Given the description of an element on the screen output the (x, y) to click on. 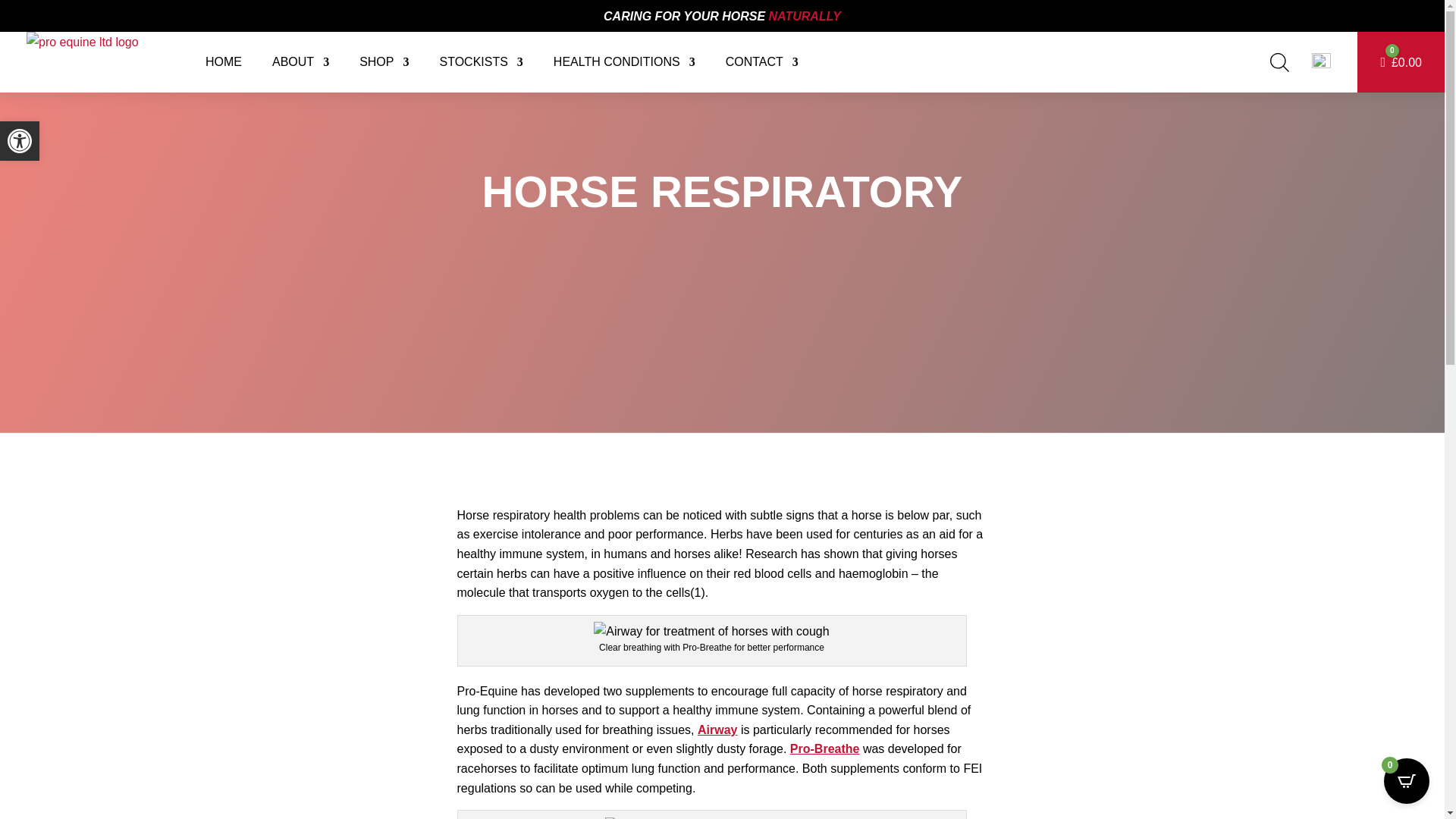
user-account (1320, 62)
Accessibility Tools (19, 140)
ABOUT (300, 61)
HEALTH CONDITIONS (624, 61)
STOCKISTS (480, 61)
CONTACT (761, 61)
